Given the description of an element on the screen output the (x, y) to click on. 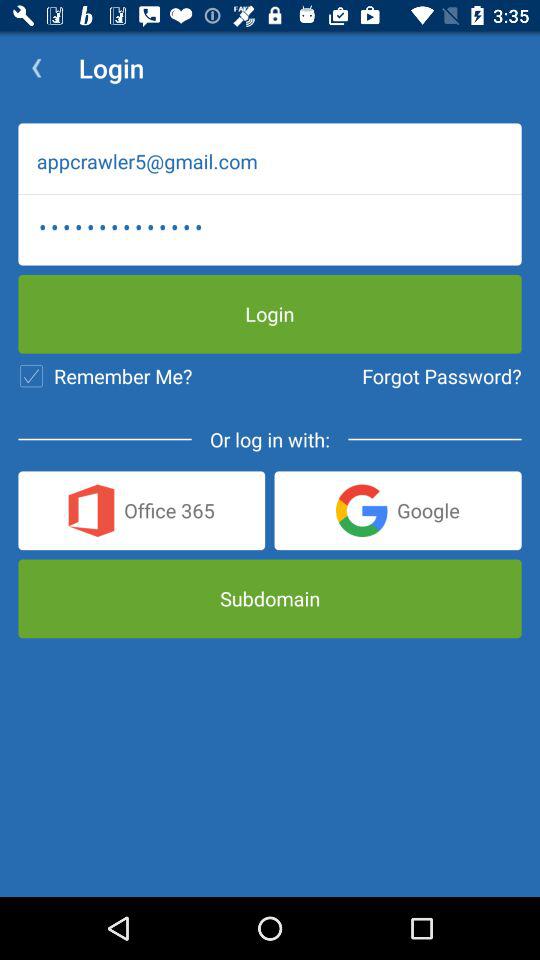
select item to the left of forgot password? (105, 376)
